Given the description of an element on the screen output the (x, y) to click on. 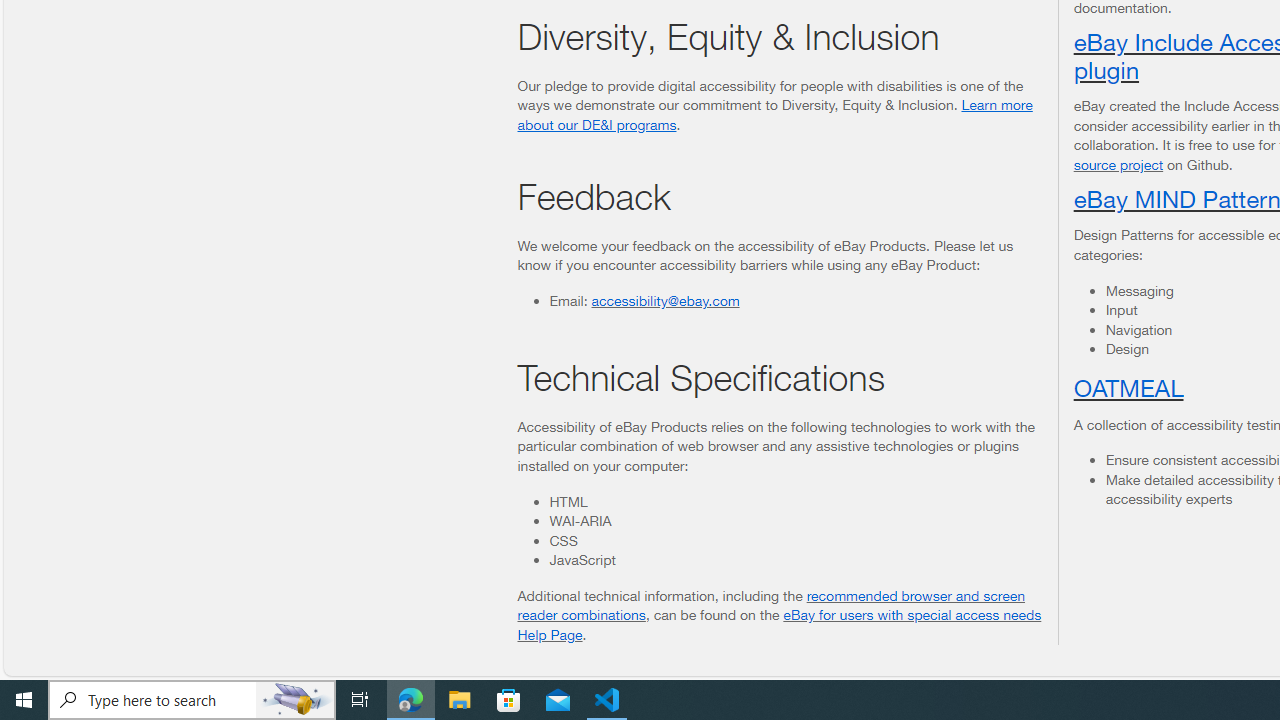
recommended browser and screen reader combinations (771, 605)
HTML (795, 501)
accessibility@ebay.com (665, 299)
JavaScript (795, 560)
Email: accessibility@ebay.com (795, 300)
WAI-ARIA (795, 521)
eBay for users with special access needs Help Page (779, 624)
CSS (795, 539)
OATMEAL (1128, 386)
Learn more about our DE&I programs (774, 114)
